Given the description of an element on the screen output the (x, y) to click on. 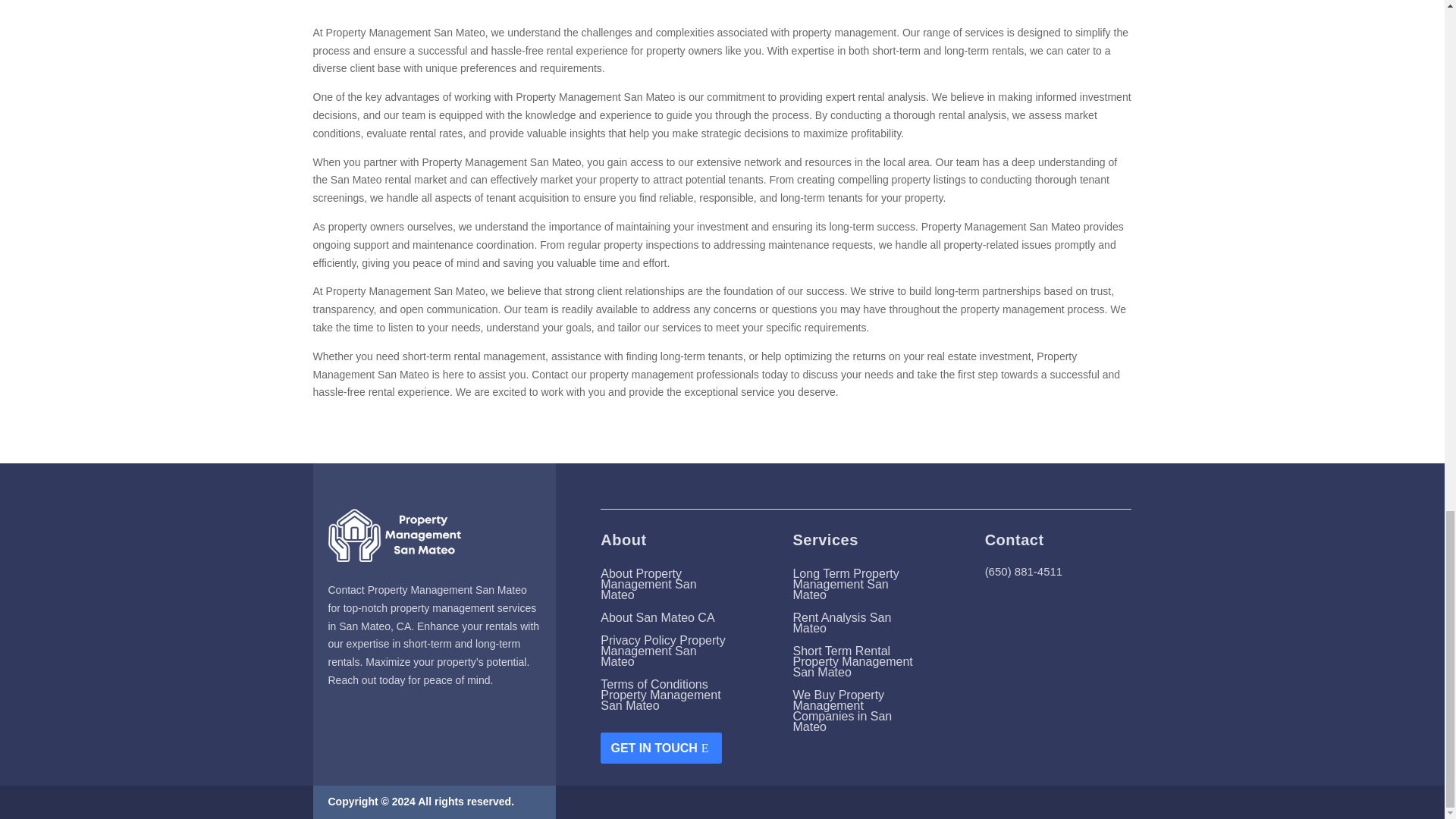
Property Management San Mateo Horizontal - White-cropped (394, 534)
Property Management San Mateo (722, 16)
